Given the description of an element on the screen output the (x, y) to click on. 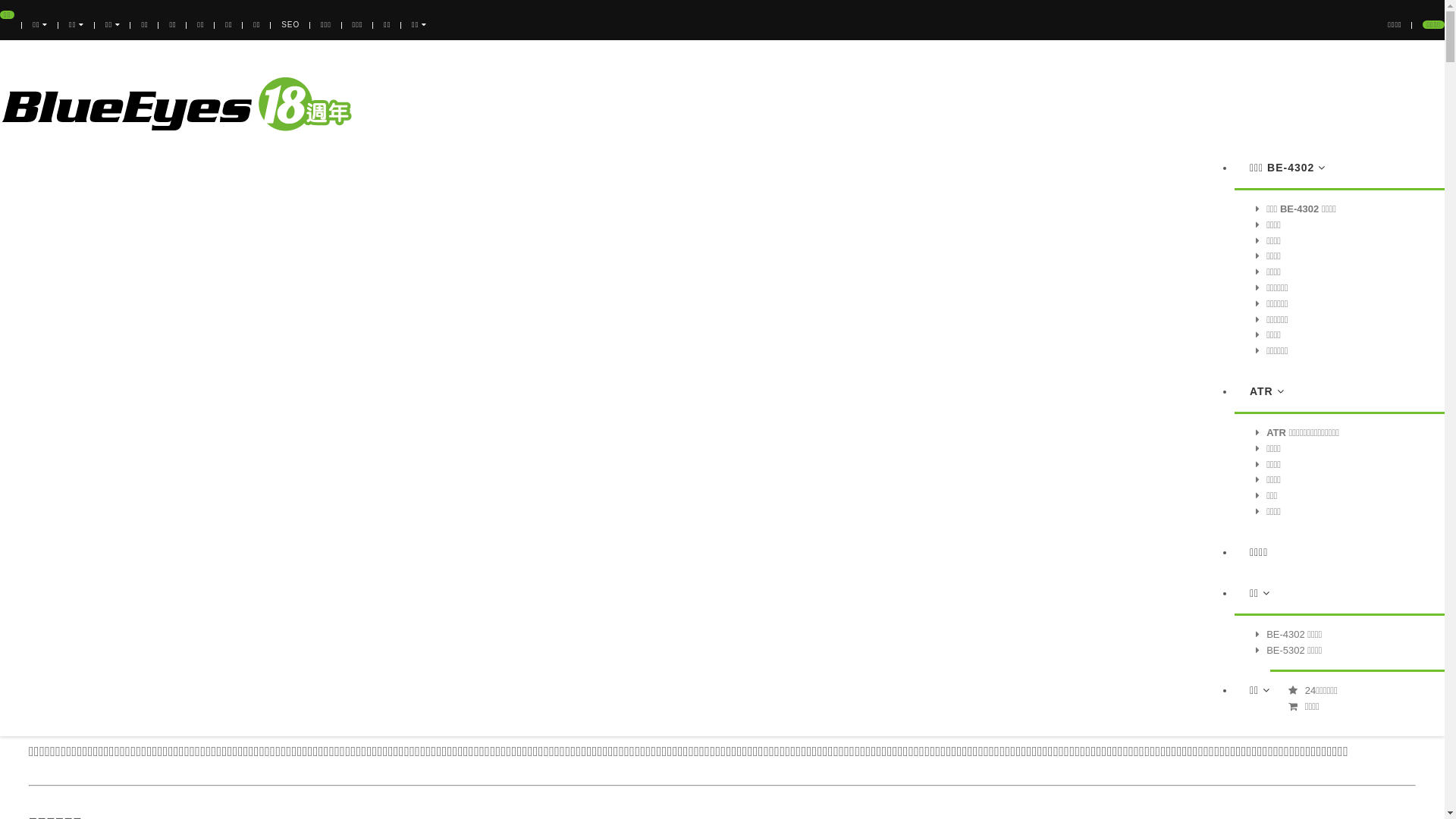
SEO Element type: text (290, 24)
ATR Element type: text (1266, 391)
BE-5302 Element type: text (1418, 187)
